Given the description of an element on the screen output the (x, y) to click on. 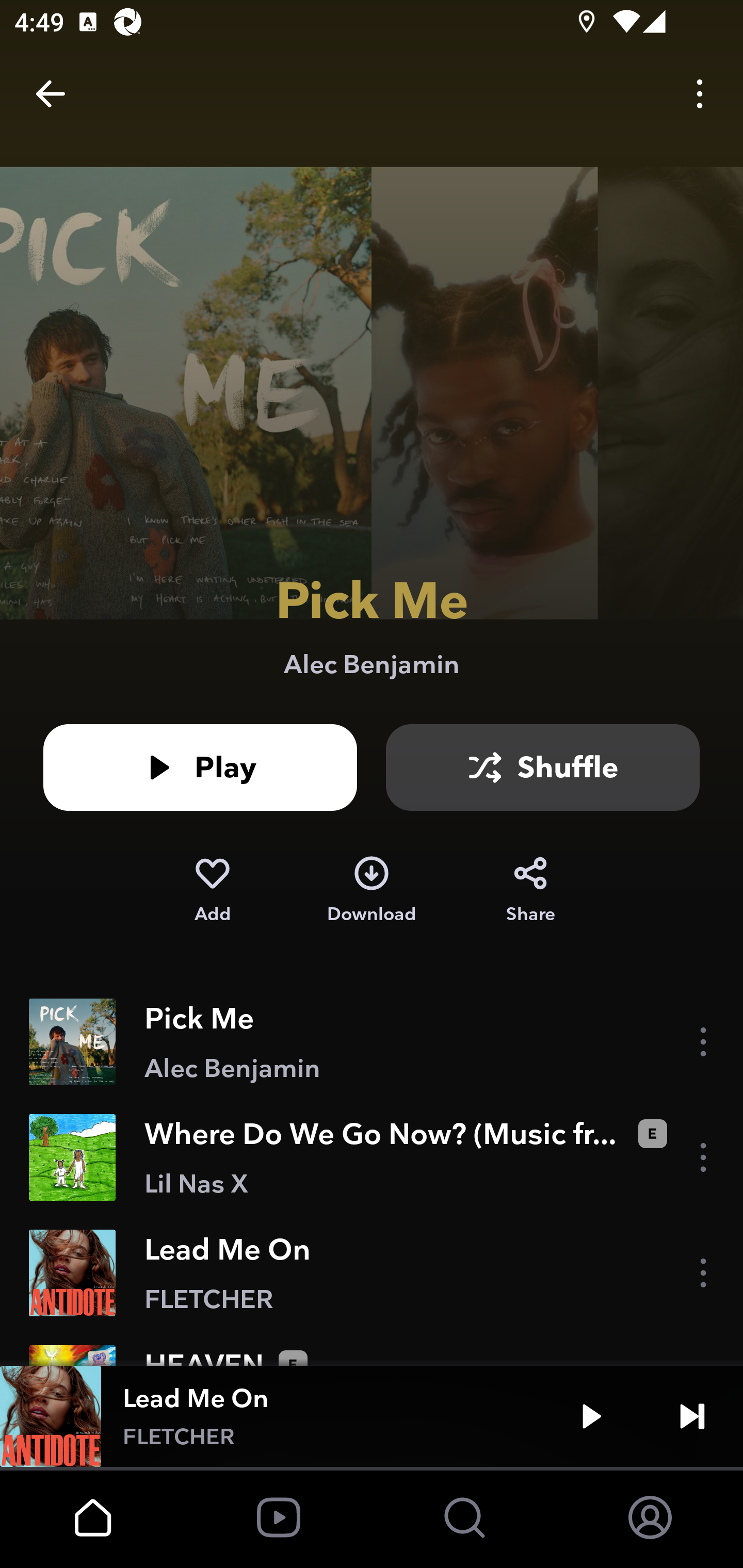
Options (699, 93)
Play (200, 767)
Shuffle (542, 767)
Add (211, 890)
Download (371, 890)
Share (530, 890)
Pick Me Alec Benjamin (371, 1041)
Lead Me On FLETCHER (371, 1273)
Lead Me On FLETCHER Play (371, 1416)
Play (590, 1416)
